Given the description of an element on the screen output the (x, y) to click on. 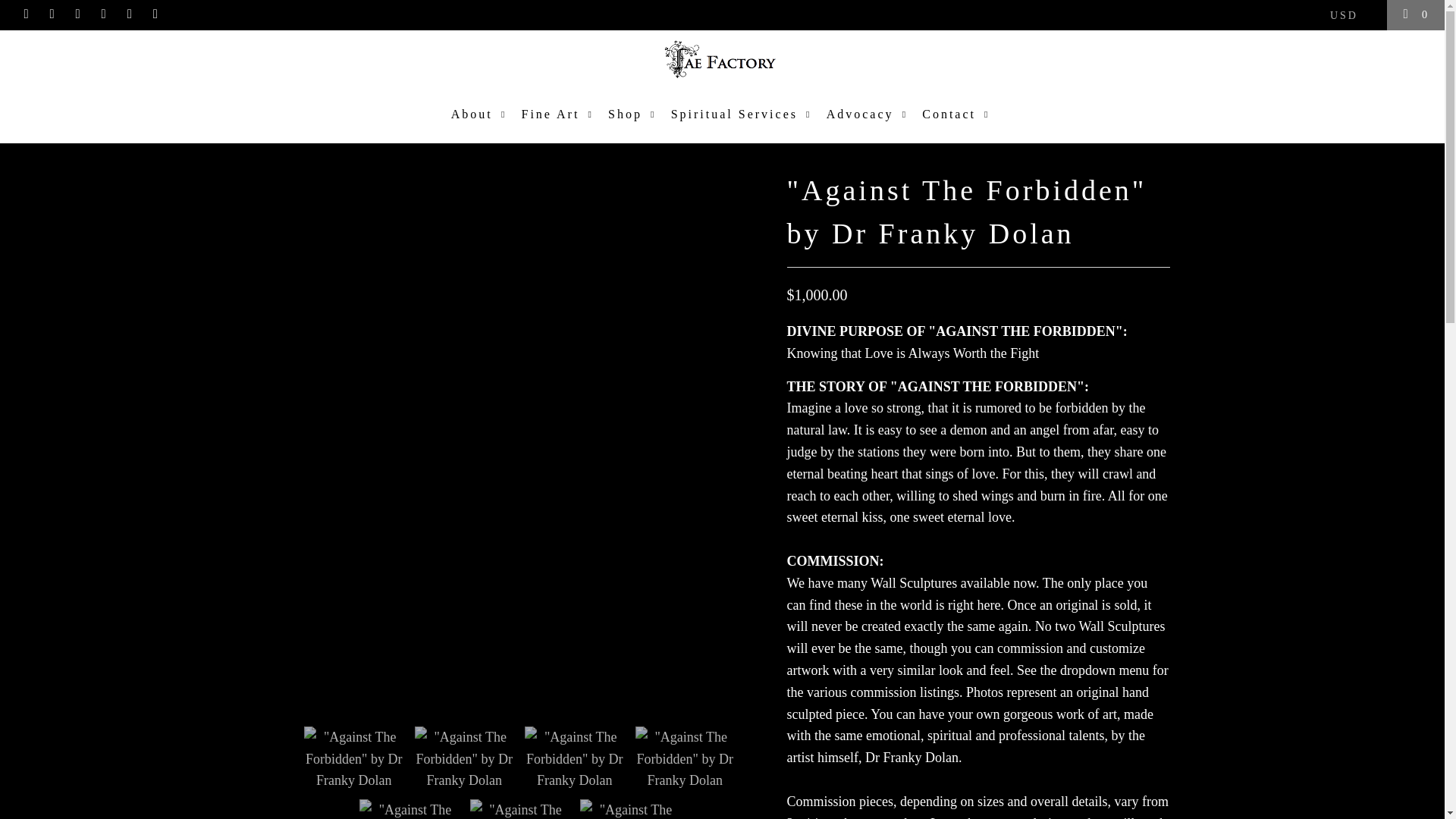
Fae Factory on Pinterest (104, 14)
About (481, 115)
Fine Art (558, 115)
Shop (633, 115)
Fae Factory on Facebook (52, 14)
Spiritual Services (743, 115)
Fae Factory on Instagram (129, 14)
Email Fae Factory (155, 14)
Fae Factory on YouTube (77, 14)
Fae Factory on Twitter (25, 14)
